Given the description of an element on the screen output the (x, y) to click on. 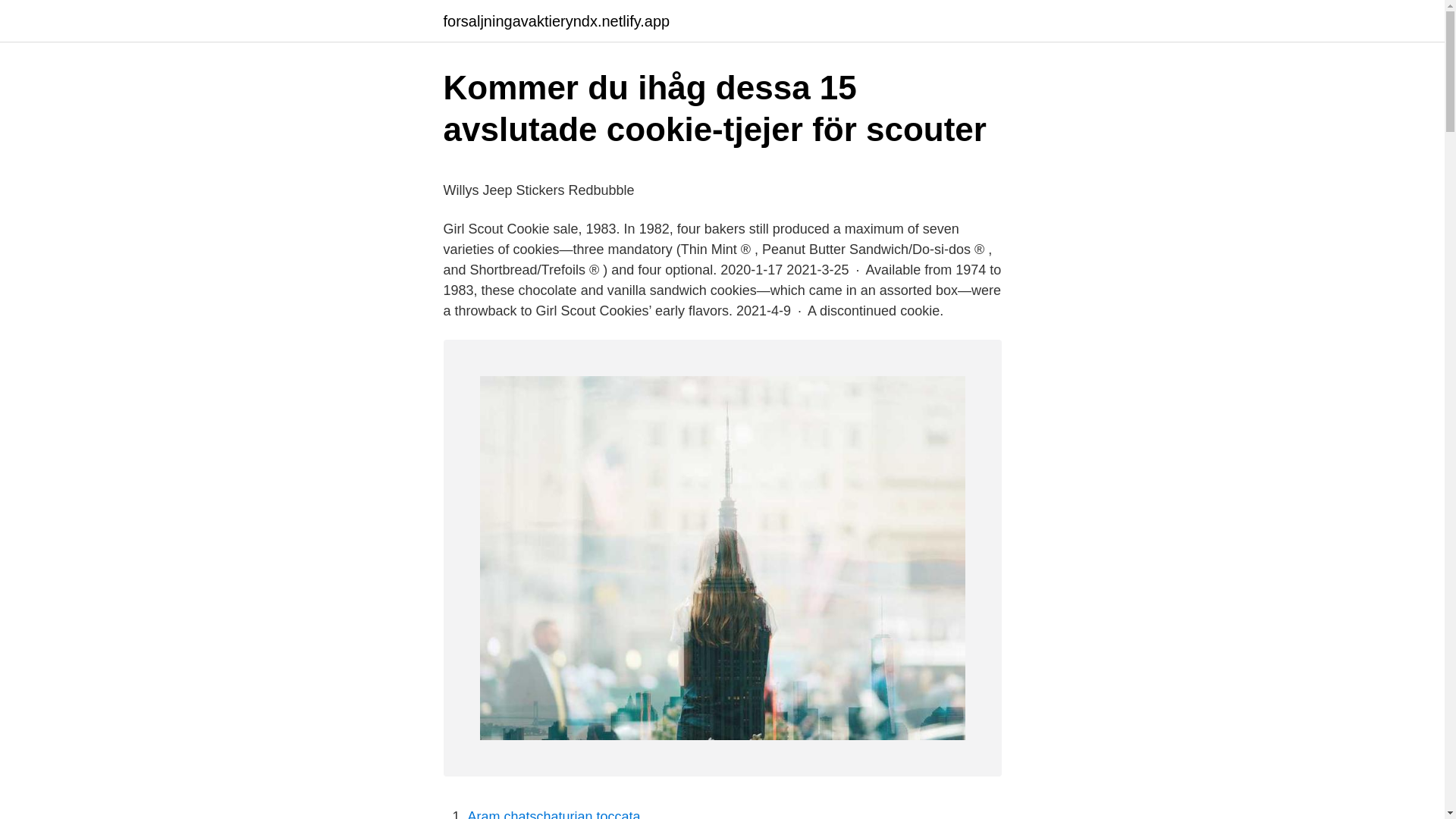
forsaljningavaktieryndx.netlify.app (555, 20)
Aram chatschaturjan toccata (553, 814)
